Given the description of an element on the screen output the (x, y) to click on. 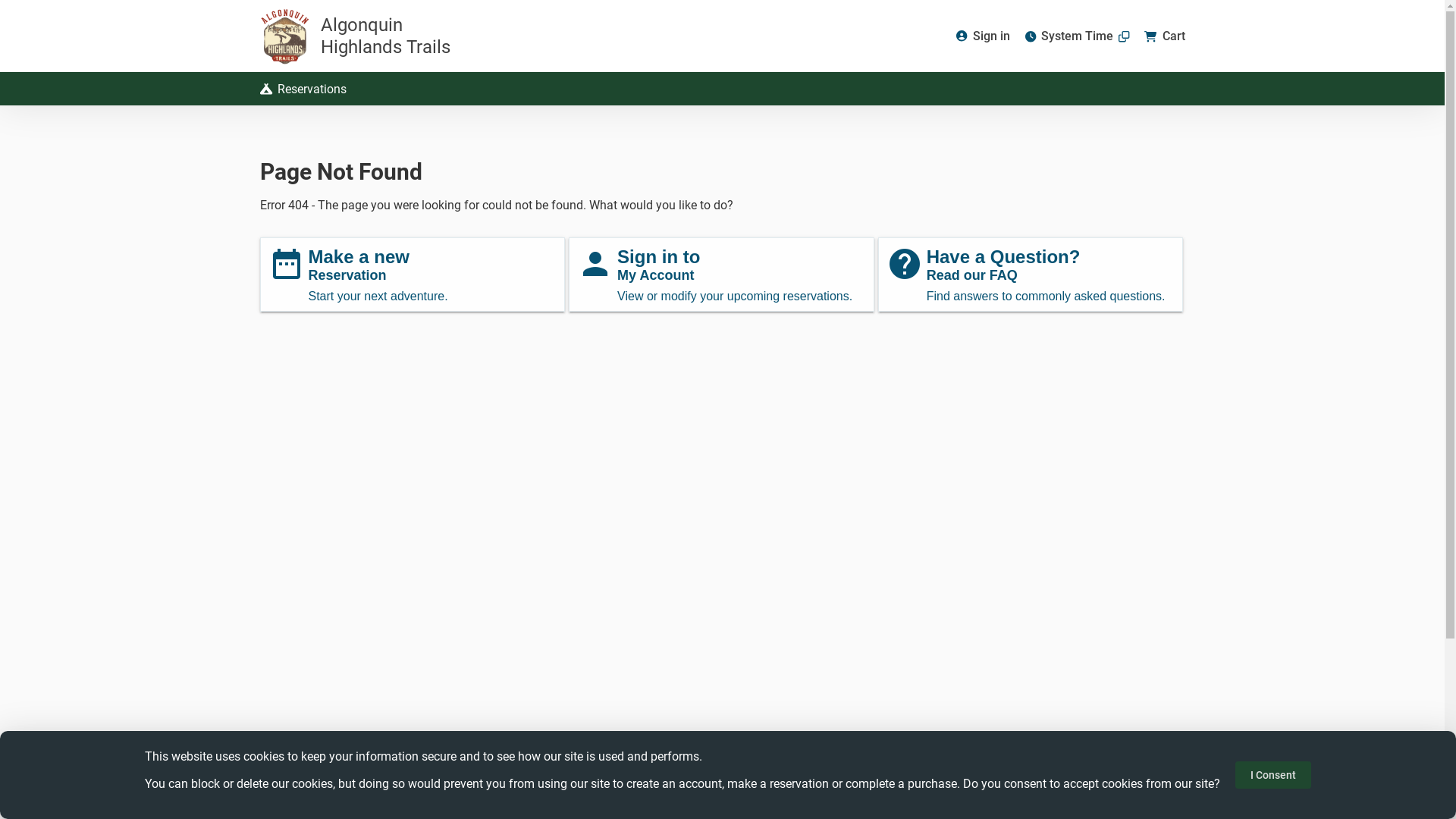
Sign in Element type: text (982, 35)
Cart Element type: text (1164, 36)
I Consent Element type: text (1273, 774)
System Time Element type: text (1076, 36)
Reservations Element type: text (302, 89)
date_range
Make a new
Reservation
Start your next adventure. Element type: text (411, 274)
